Given the description of an element on the screen output the (x, y) to click on. 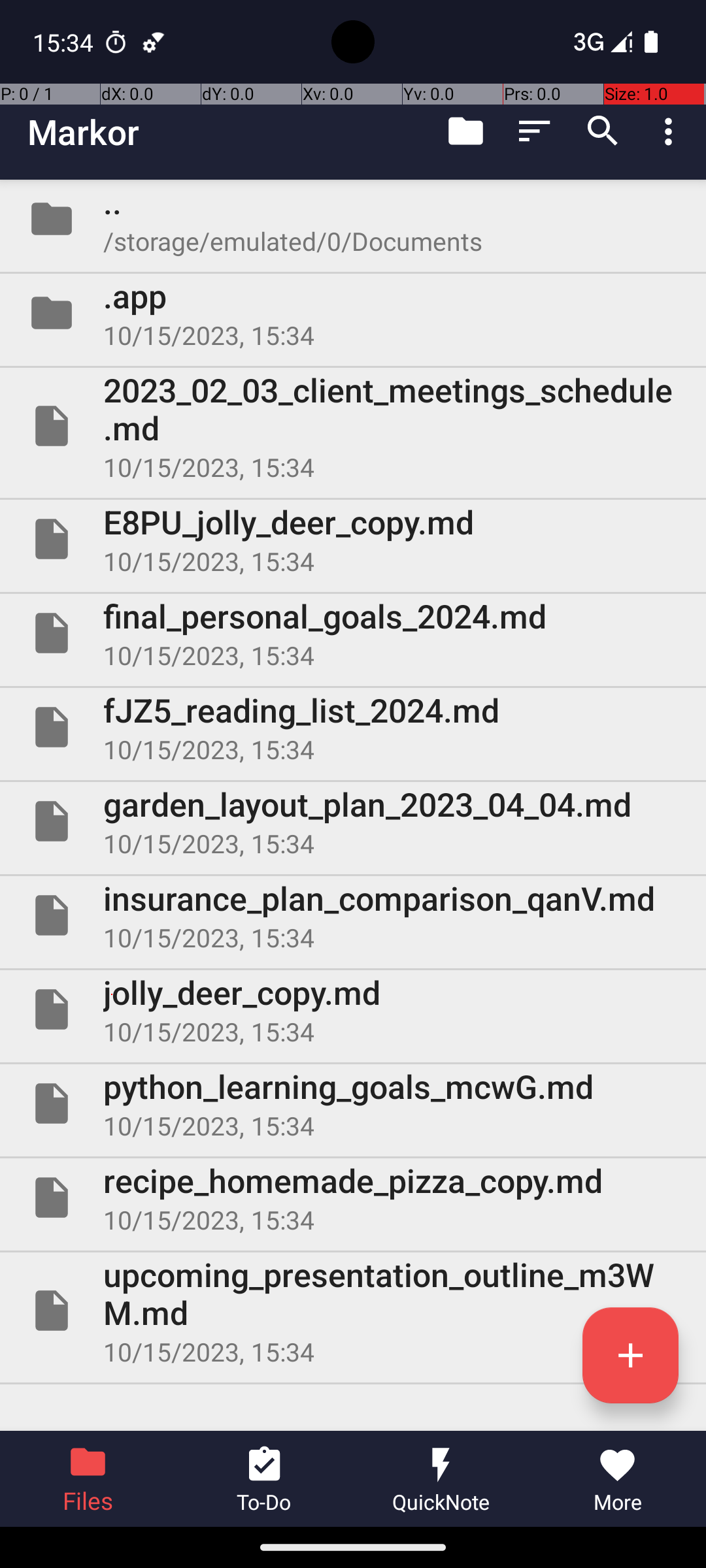
Folder .app  Element type: android.widget.LinearLayout (353, 312)
File 2023_02_03_client_meetings_schedule.md  Element type: android.widget.LinearLayout (353, 425)
File E8PU_jolly_deer_copy.md  Element type: android.widget.LinearLayout (353, 538)
File final_personal_goals_2024.md  Element type: android.widget.LinearLayout (353, 632)
File fJZ5_reading_list_2024.md  Element type: android.widget.LinearLayout (353, 726)
File garden_layout_plan_2023_04_04.md  Element type: android.widget.LinearLayout (353, 821)
File insurance_plan_comparison_qanV.md  Element type: android.widget.LinearLayout (353, 915)
File jolly_deer_copy.md 10/15/2023, 15:34 Element type: android.widget.LinearLayout (353, 1009)
File python_learning_goals_mcwG.md 10/15/2023, 15:34 Element type: android.widget.LinearLayout (353, 1103)
File recipe_homemade_pizza_copy.md  Element type: android.widget.LinearLayout (353, 1197)
File upcoming_presentation_outline_m3WM.md  Element type: android.widget.LinearLayout (353, 1310)
